Given the description of an element on the screen output the (x, y) to click on. 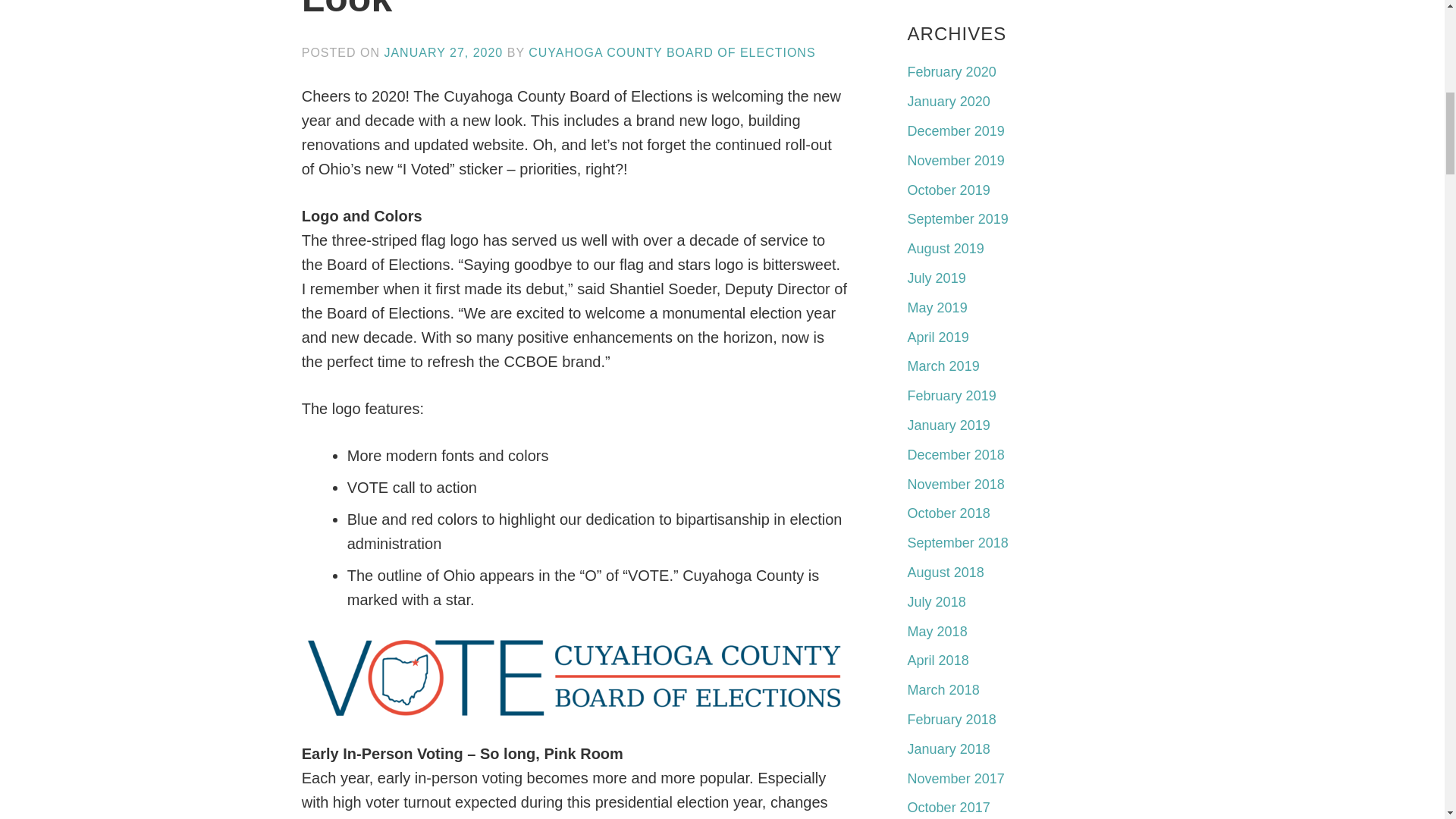
April 2019 (938, 337)
January 2019 (948, 425)
December 2019 (955, 130)
February 2020 (951, 71)
CUYAHOGA COUNTY BOARD OF ELECTIONS (671, 51)
July 2019 (936, 278)
October 2019 (948, 190)
January 2020 (948, 101)
JANUARY 27, 2020 (443, 51)
November 2019 (955, 160)
May 2019 (937, 307)
March 2019 (943, 365)
August 2019 (945, 248)
February 2019 (951, 395)
September 2019 (958, 218)
